Given the description of an element on the screen output the (x, y) to click on. 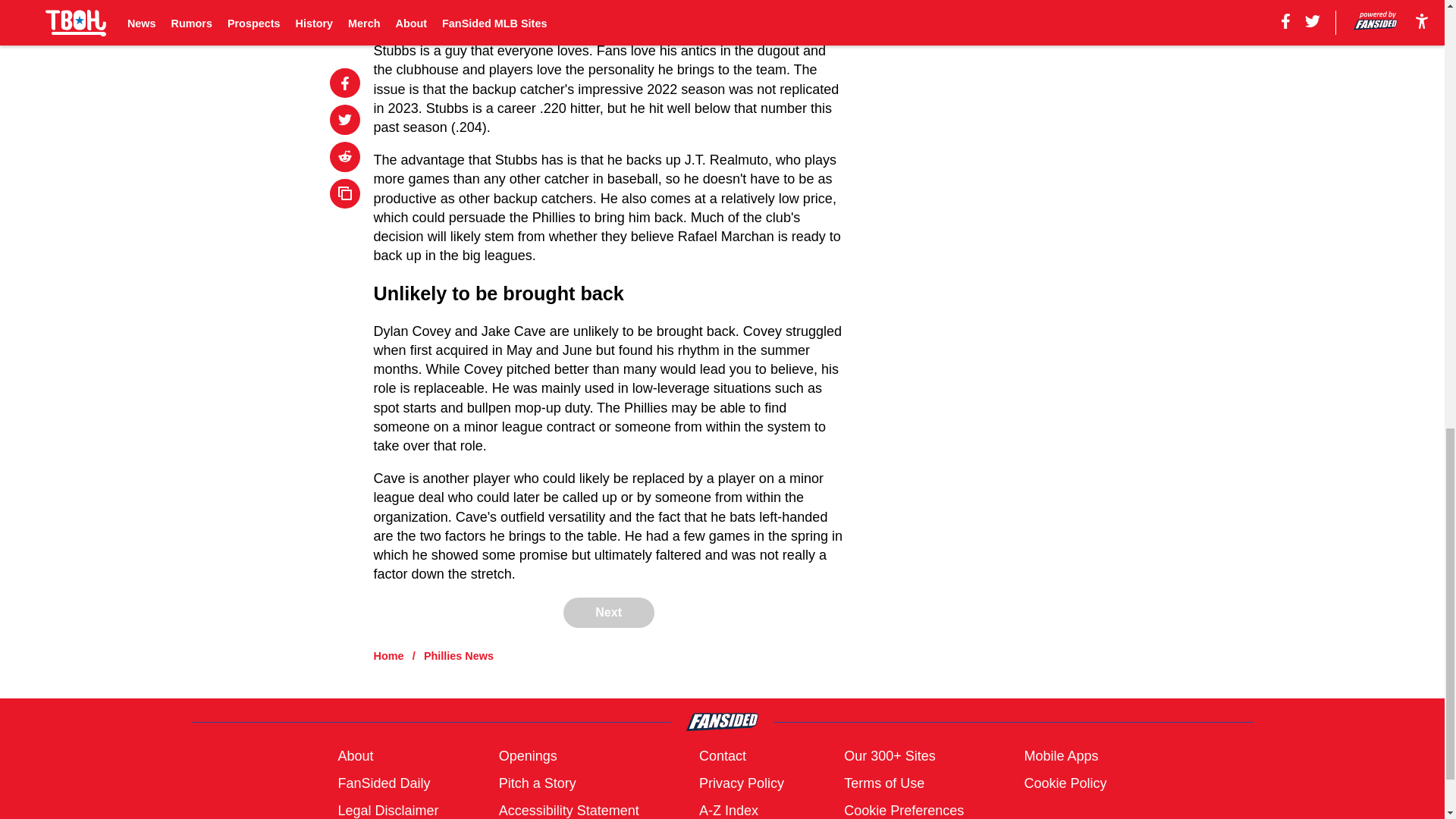
Phillies News (458, 655)
Next (608, 612)
About (354, 755)
Home (389, 655)
